Given the description of an element on the screen output the (x, y) to click on. 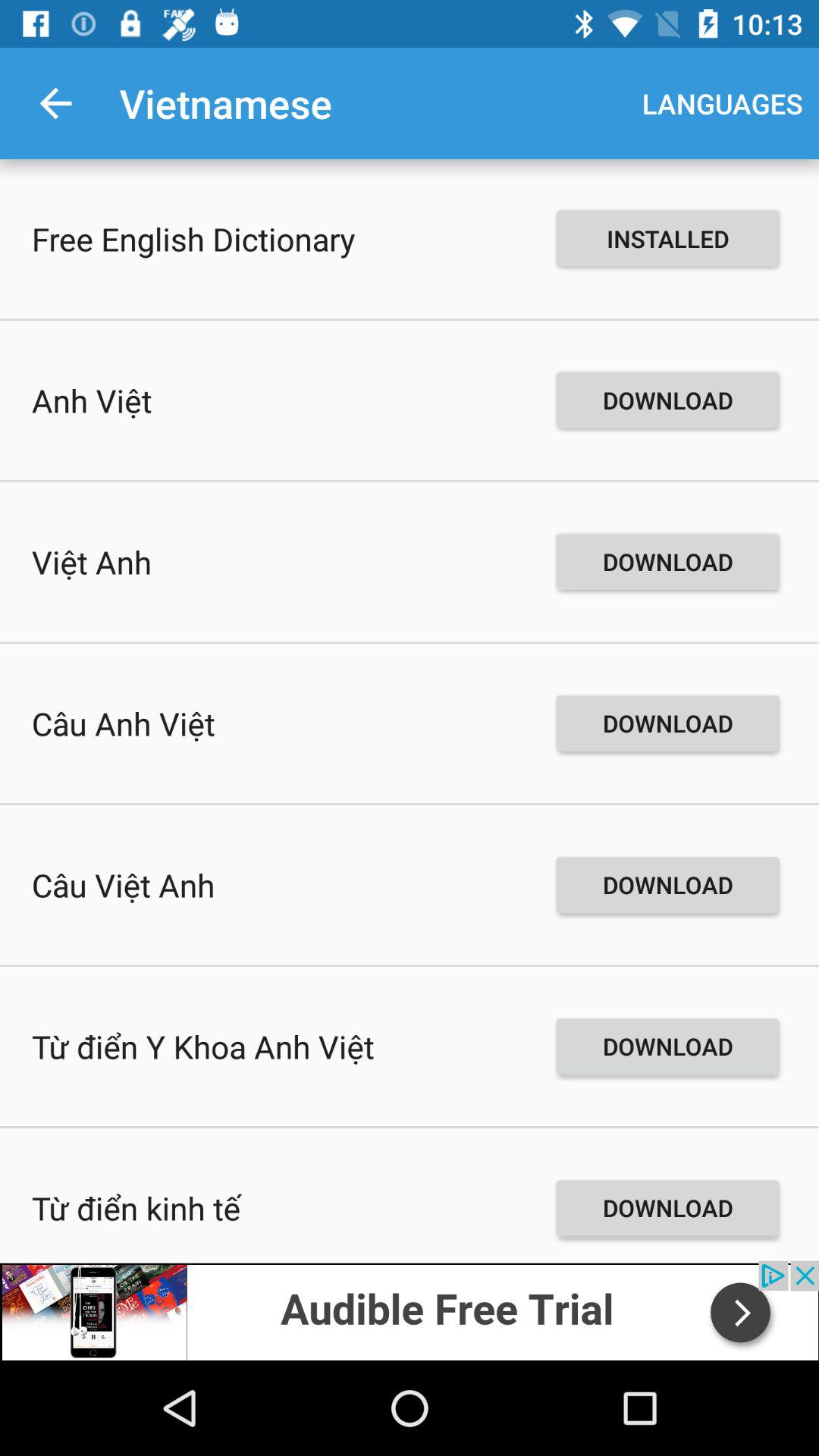
select the advertisement (409, 1310)
